Given the description of an element on the screen output the (x, y) to click on. 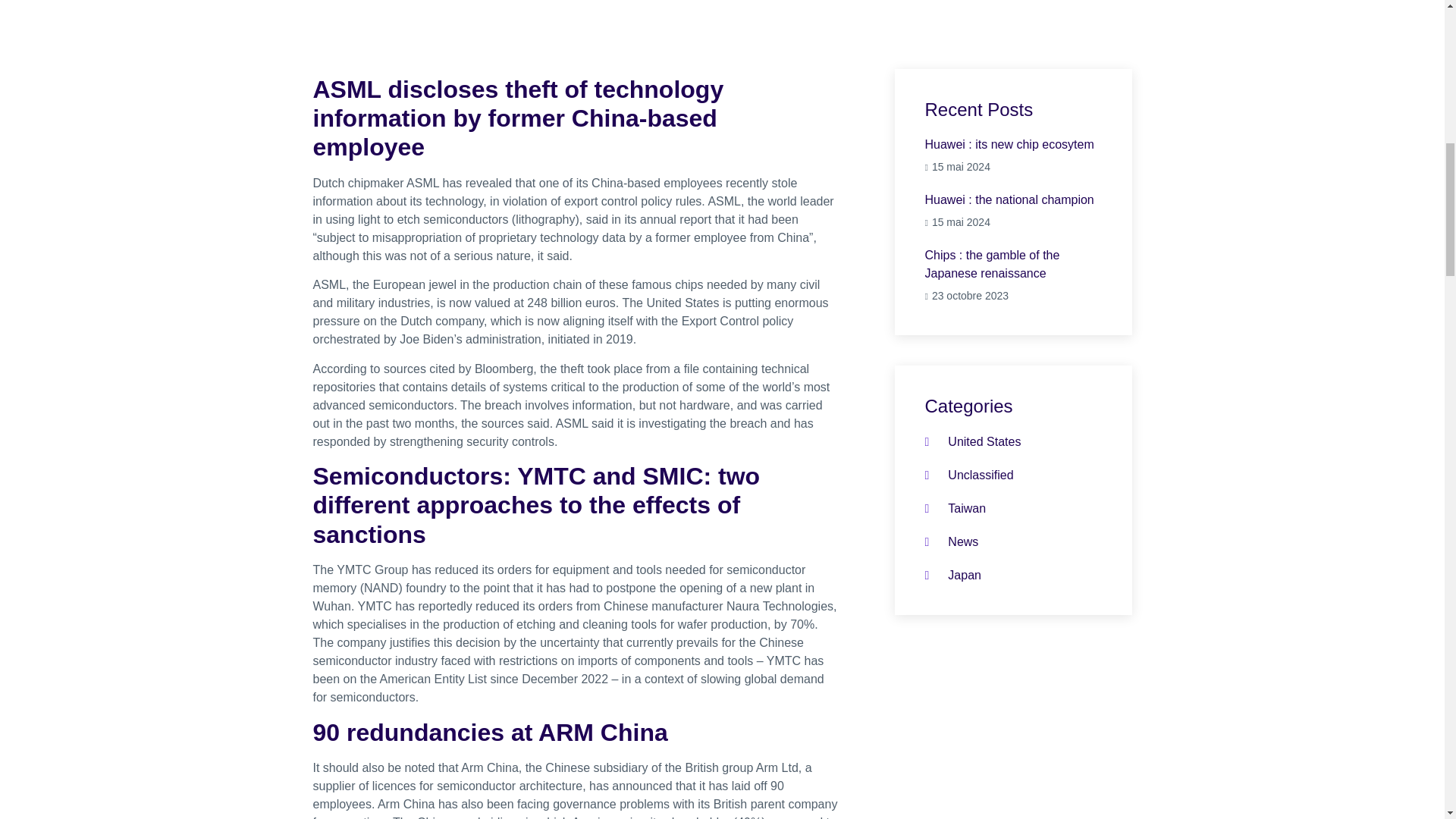
Taiwan (955, 508)
United States (973, 442)
News (1013, 155)
Japan (1013, 210)
Unclassified (951, 542)
